Given the description of an element on the screen output the (x, y) to click on. 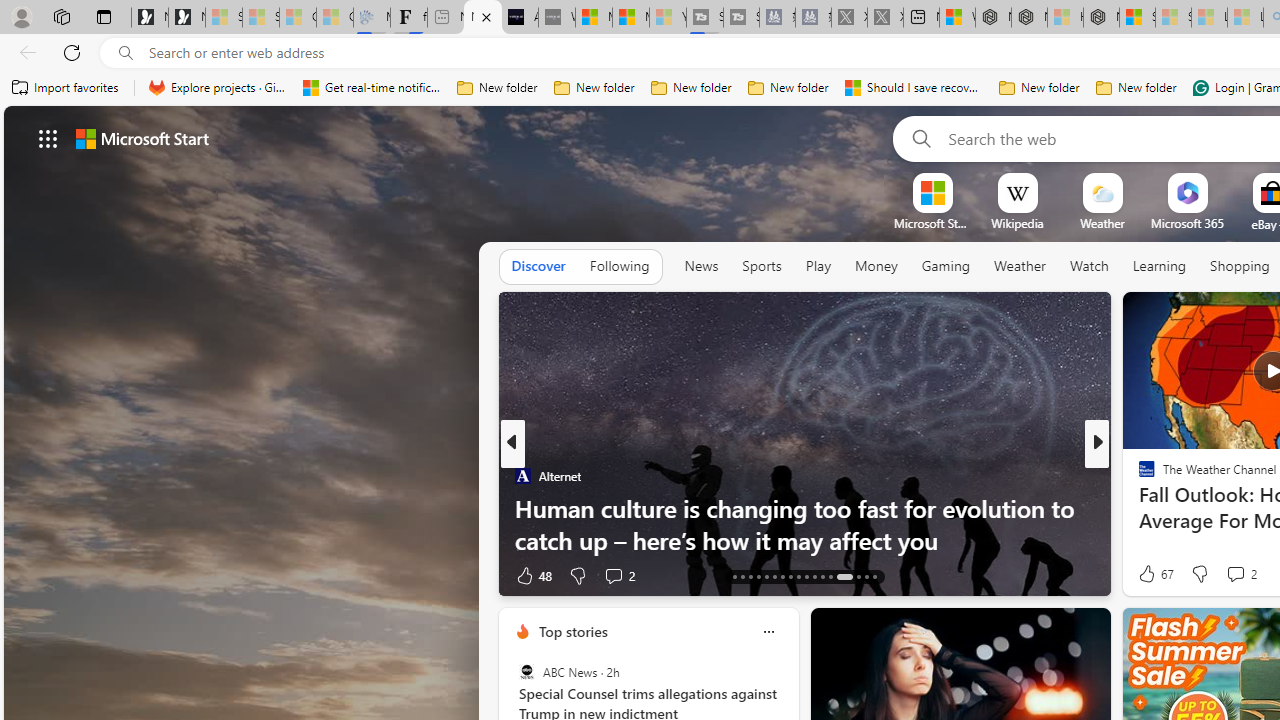
Class: control (47, 138)
AutomationID: tab-26 (806, 576)
Nordace.com (1165, 507)
